Given the description of an element on the screen output the (x, y) to click on. 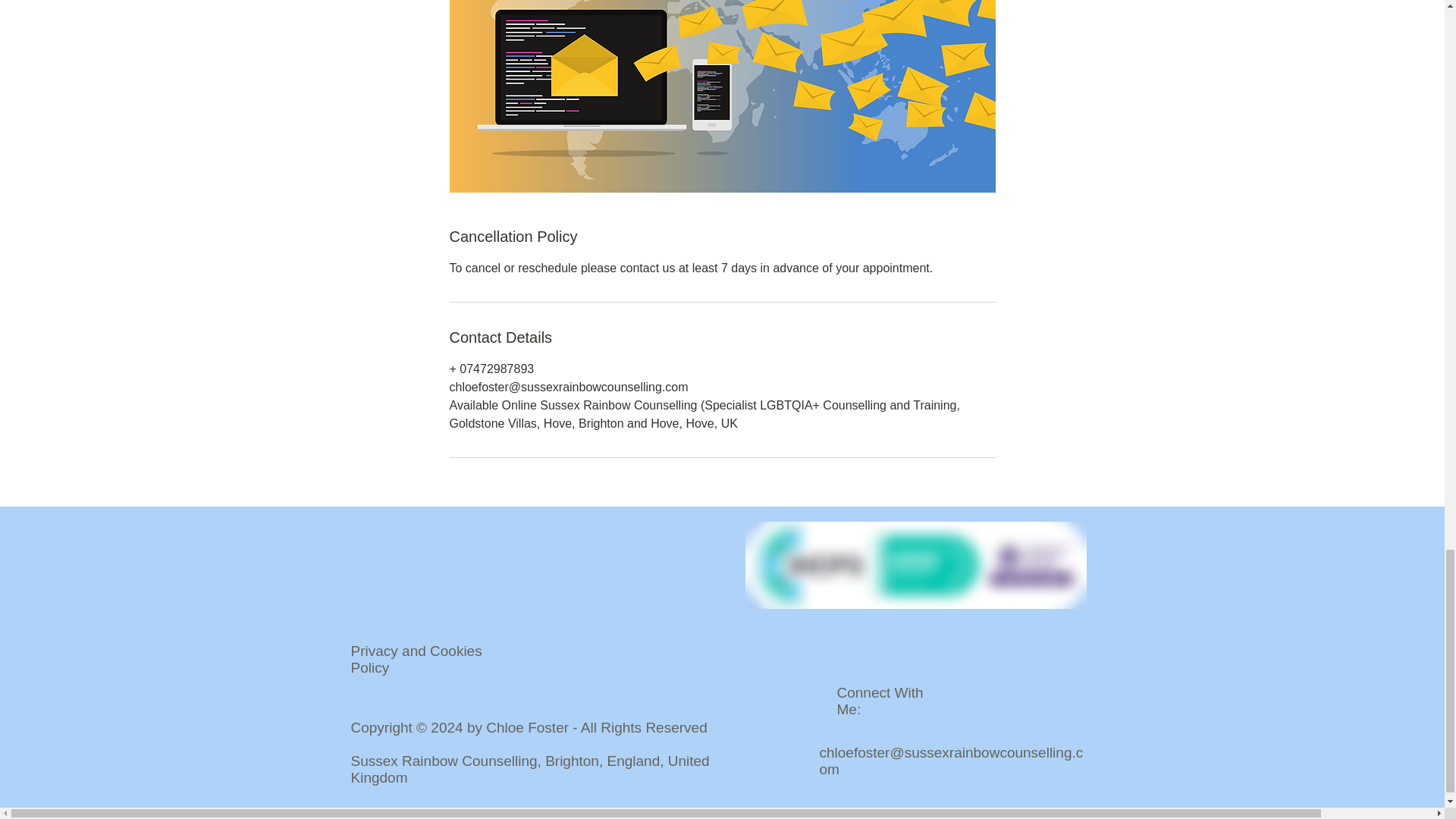
Connect With Me: (880, 700)
Privacy and Cookies Policy (415, 658)
